Given the description of an element on the screen output the (x, y) to click on. 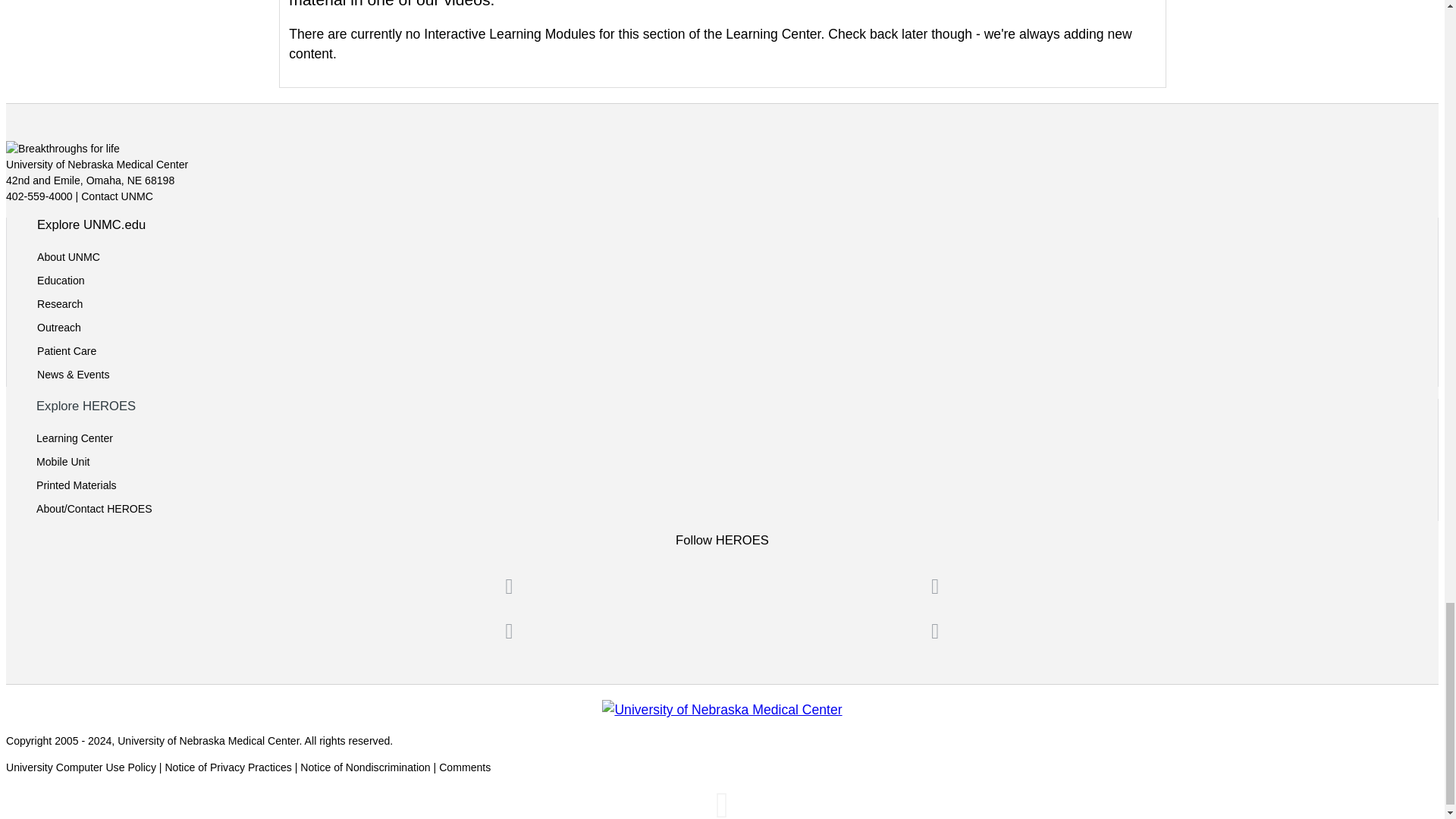
University of Nebraska Medical Center (721, 709)
